Given the description of an element on the screen output the (x, y) to click on. 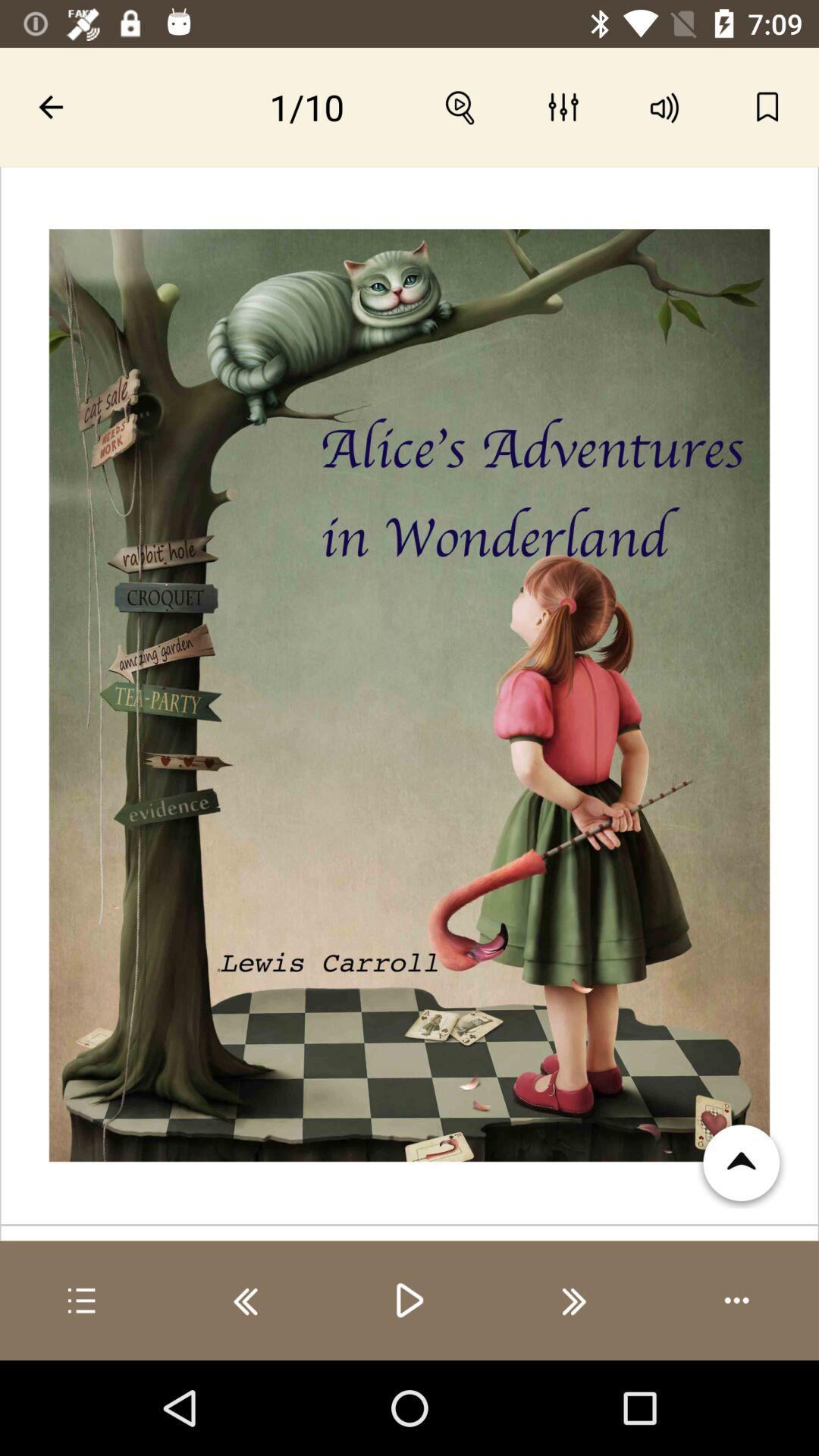
more options (737, 1300)
